Given the description of an element on the screen output the (x, y) to click on. 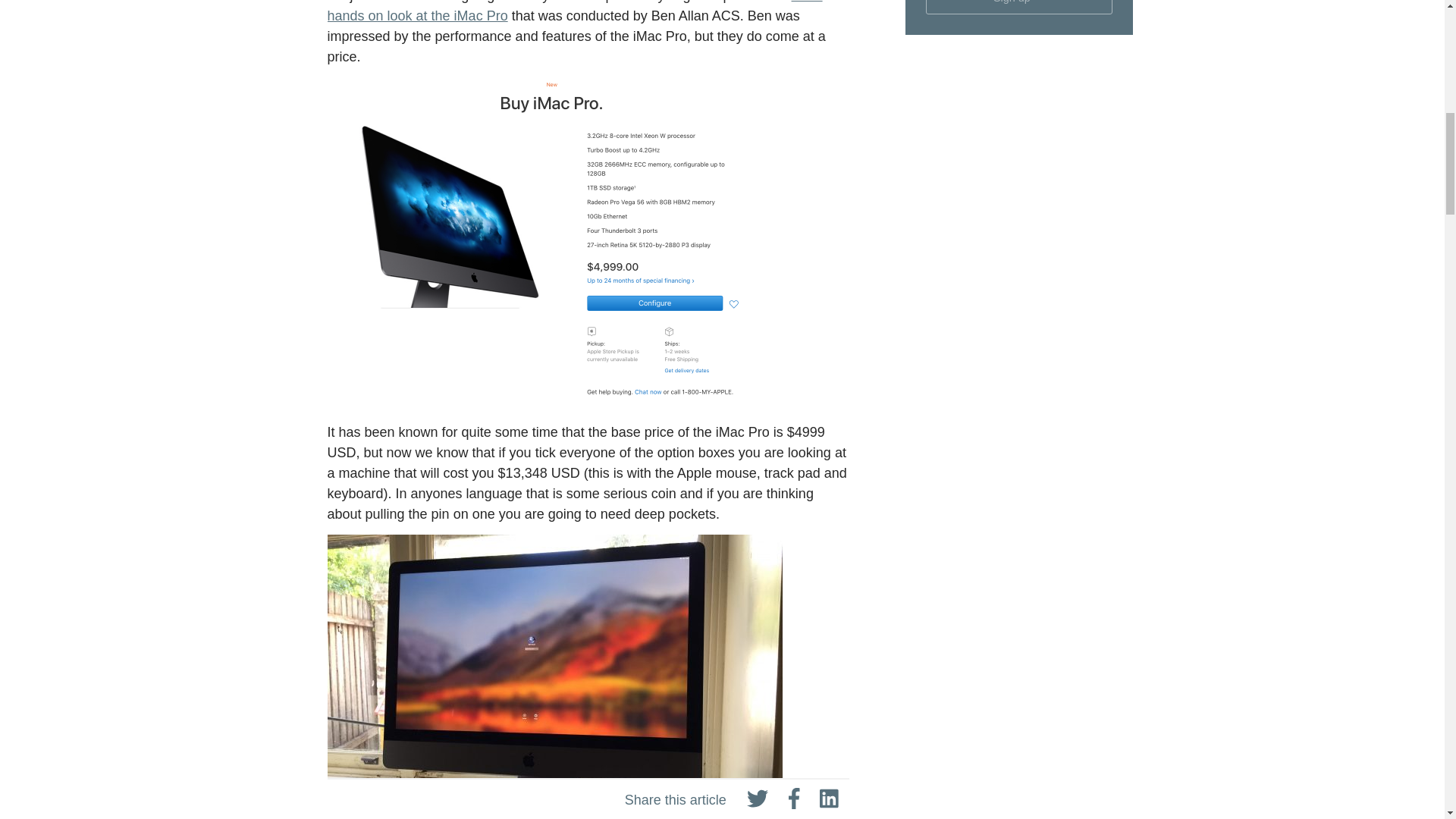
initial hands on look at the iMac Pro (574, 11)
3rd party ad content (1018, 360)
3rd party ad content (1018, 752)
3rd party ad content (1018, 149)
3rd party ad content (1018, 570)
